Given the description of an element on the screen output the (x, y) to click on. 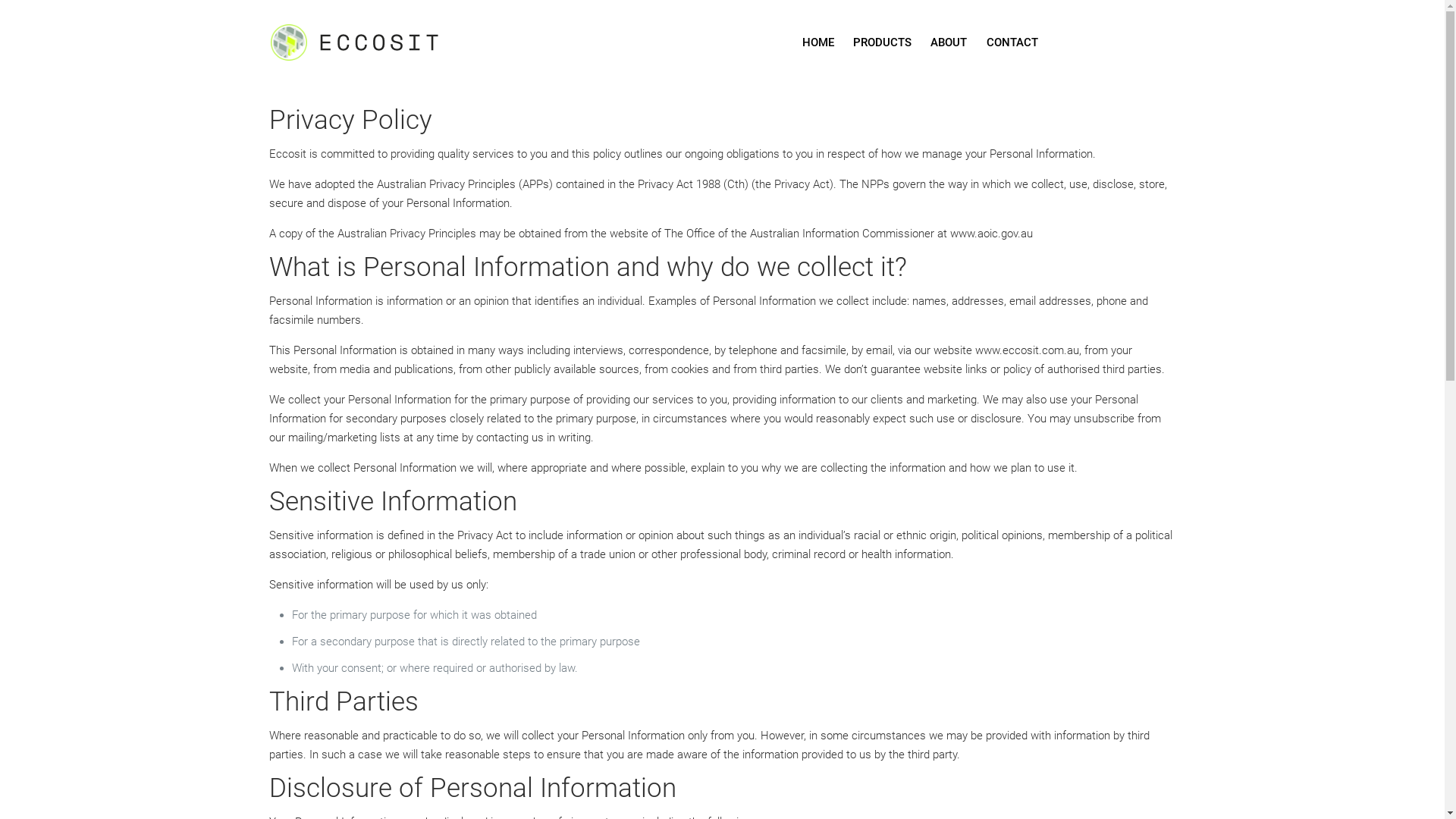
HOME Element type: text (818, 42)
PRODUCTS Element type: text (882, 42)
ABOUT Element type: text (948, 42)
Eccosit Element type: hover (371, 42)
CONTACT Element type: text (1012, 42)
